Given the description of an element on the screen output the (x, y) to click on. 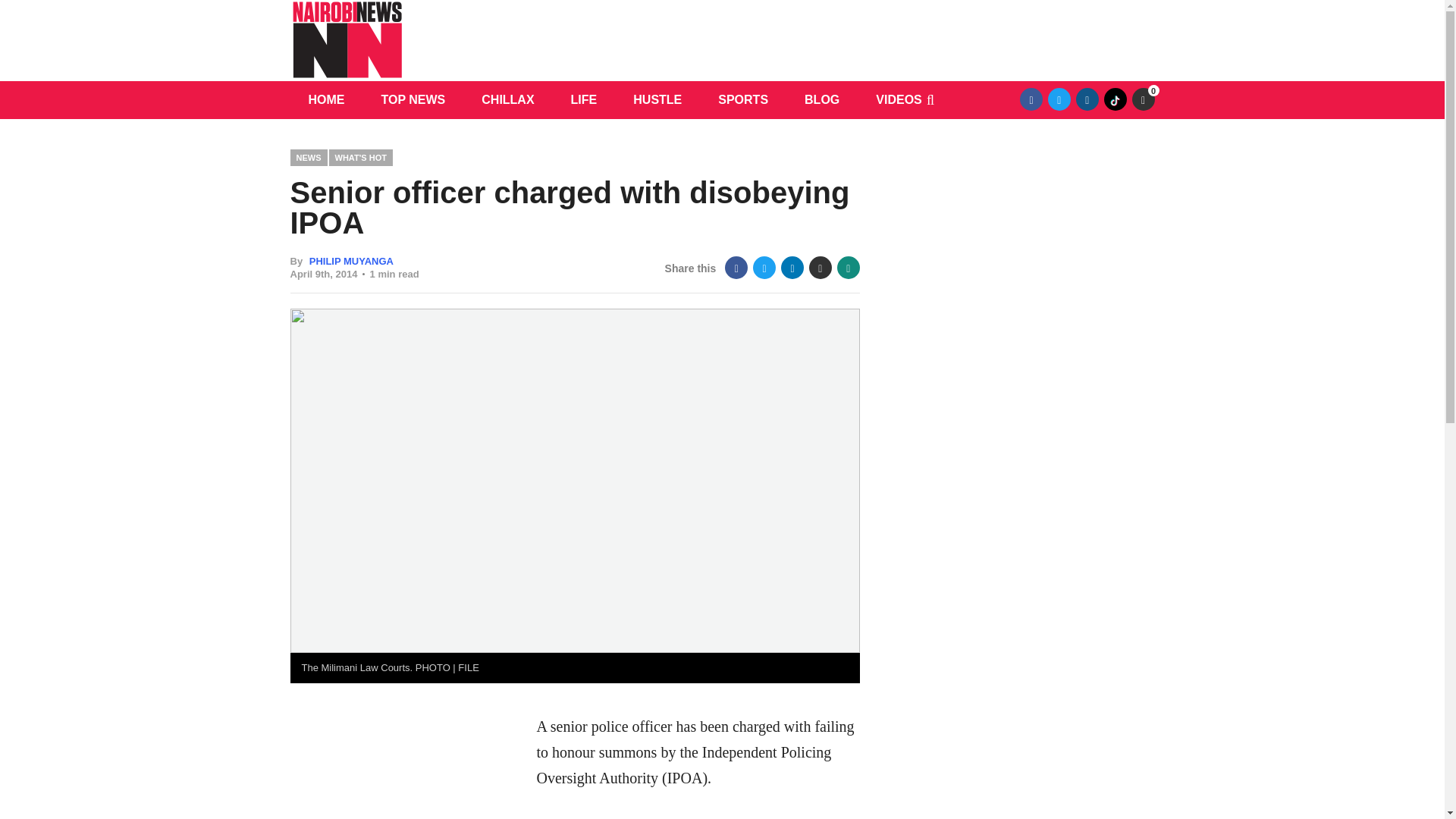
0 (1142, 98)
Facebook (1031, 98)
HOME (325, 99)
Facebook (736, 267)
WHAT'S HOT (360, 157)
Twitter (1059, 98)
Email (820, 267)
HUSTLE (657, 99)
LIFE (584, 99)
Updates made in the last 20 minutes (1142, 98)
